Given the description of an element on the screen output the (x, y) to click on. 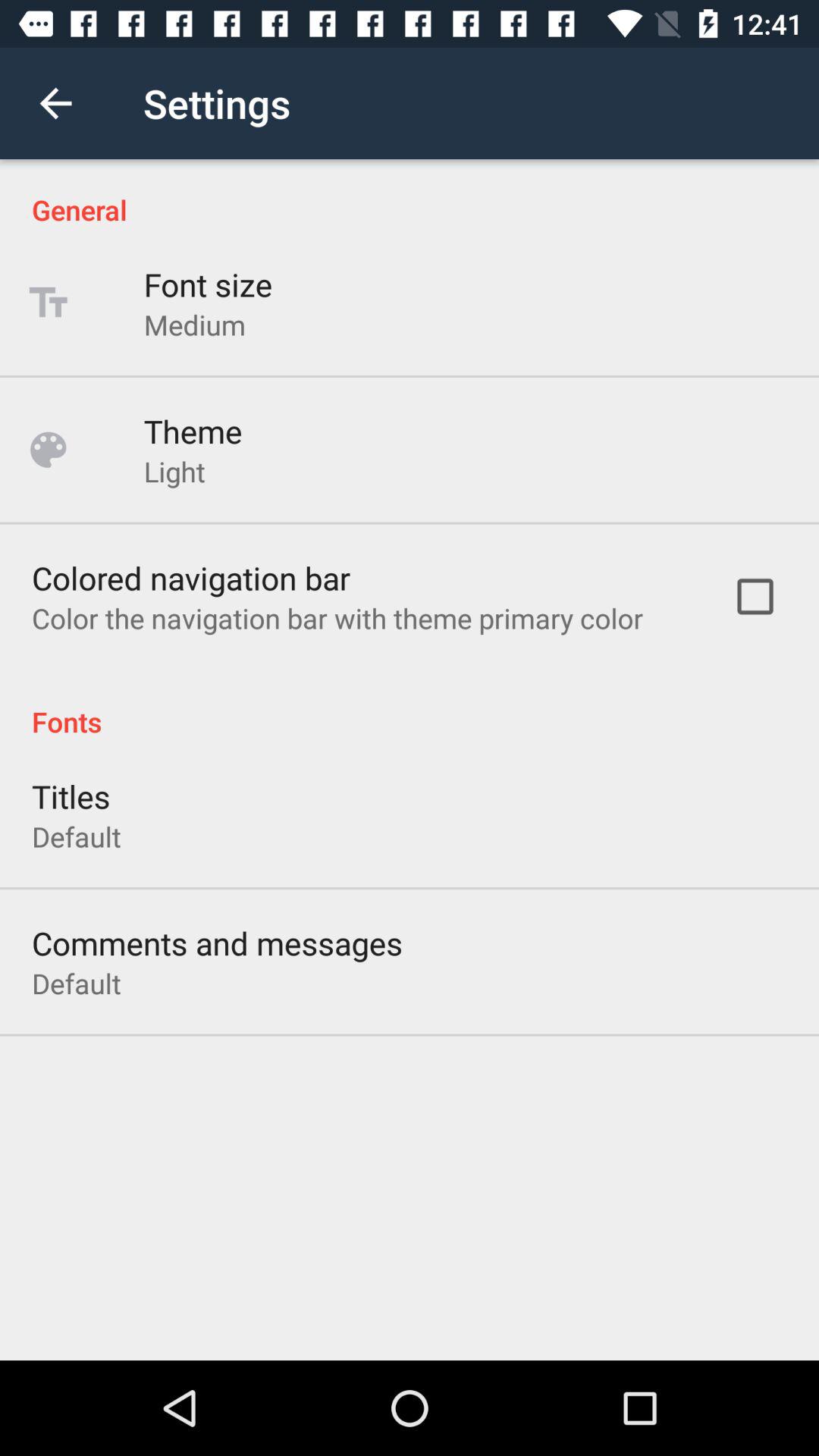
open icon above the general icon (55, 103)
